Given the description of an element on the screen output the (x, y) to click on. 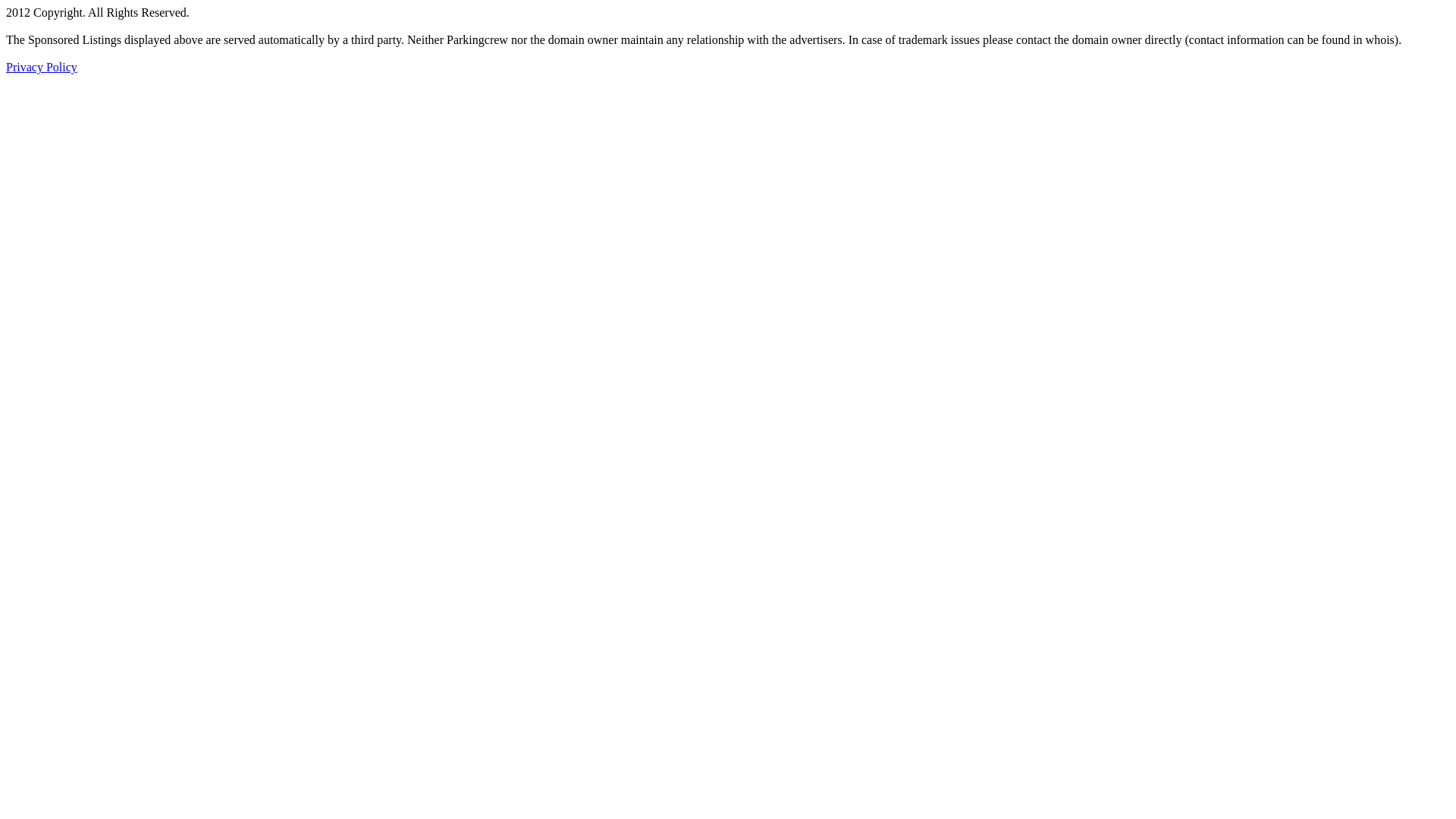
Privacy Policy Element type: text (41, 66)
